Given the description of an element on the screen output the (x, y) to click on. 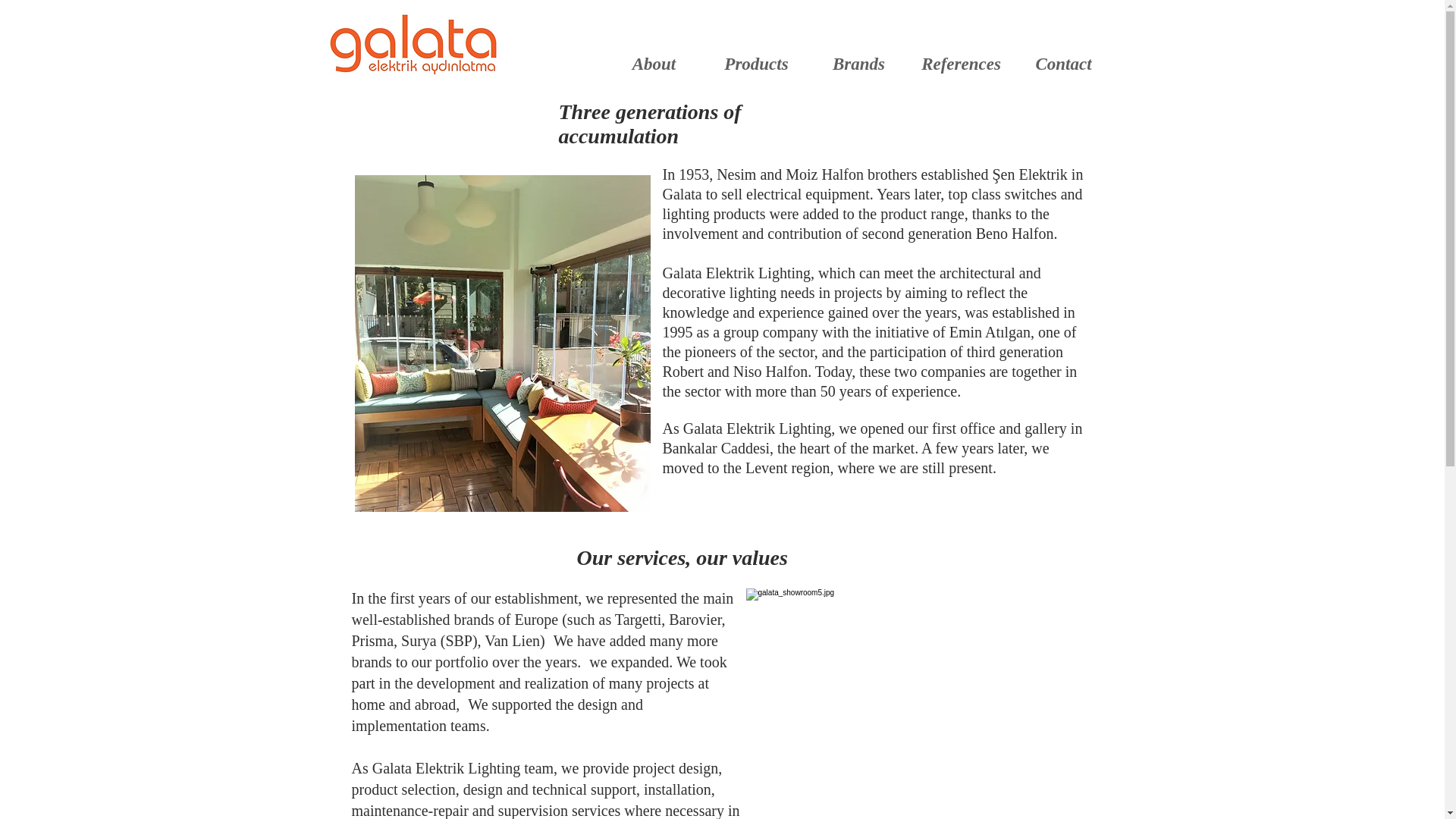
Brands (859, 63)
References (960, 63)
Products (756, 63)
About (653, 63)
Contact (1063, 63)
